Given the description of an element on the screen output the (x, y) to click on. 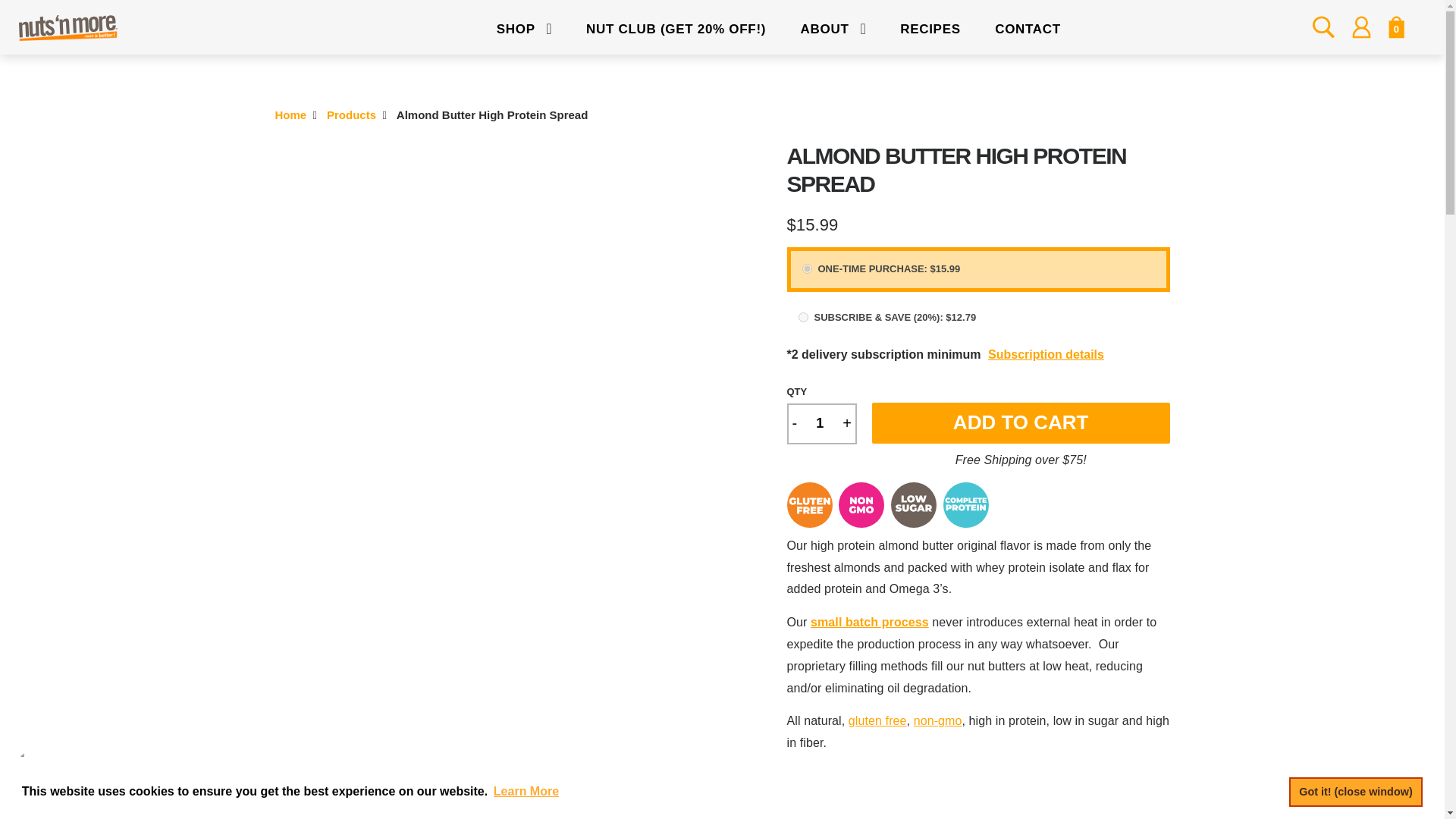
Learn More (527, 791)
purchaseTypeSubscription (802, 317)
Nuts 'N More (67, 28)
Accessibility Menu (47, 780)
Search (1323, 26)
Nuts 'N More (291, 114)
Accessibility Menu (43, 776)
Products (350, 114)
1 (819, 423)
My Account  (1361, 26)
purchaseTypeOneTime (807, 268)
